Given the description of an element on the screen output the (x, y) to click on. 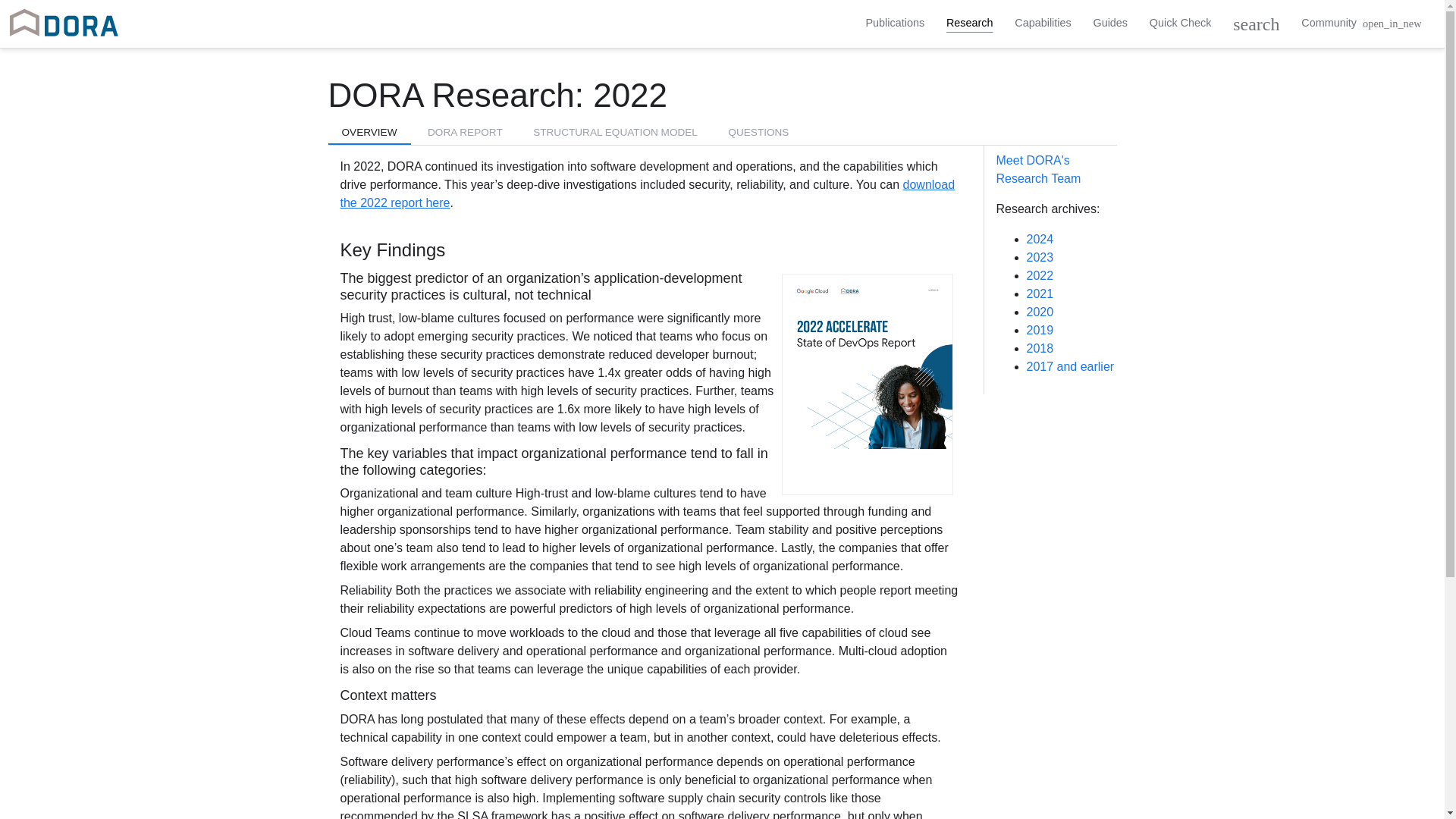
Guides (1109, 22)
Quick Check (1180, 22)
QUESTIONS (758, 133)
2020 (1040, 311)
search (1256, 24)
2023 (1040, 256)
STRUCTURAL EQUATION MODEL (615, 133)
download the 2022 report here (647, 193)
2021 (1040, 293)
Research (969, 22)
